Given the description of an element on the screen output the (x, y) to click on. 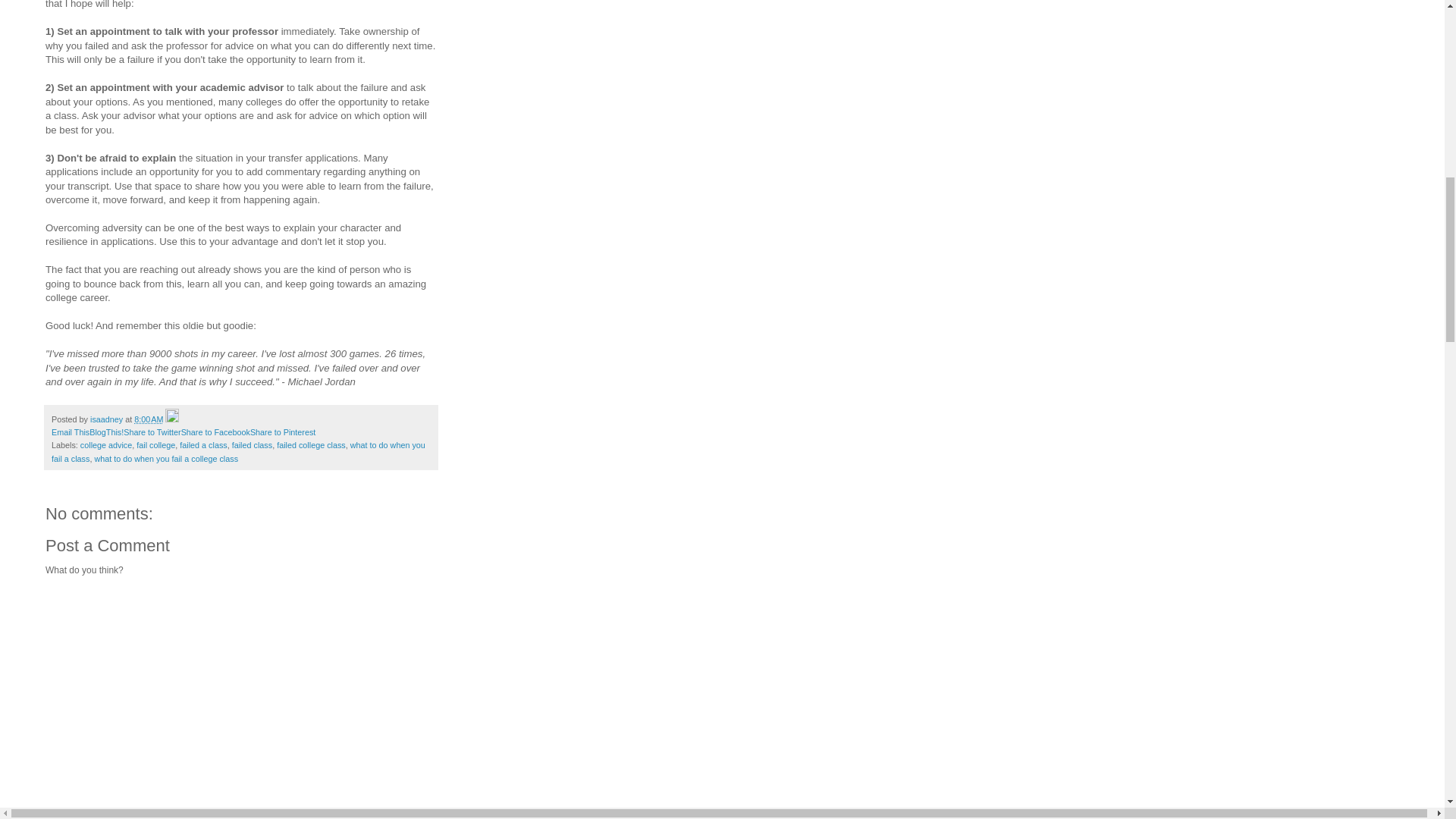
failed class (251, 444)
Share to Facebook (215, 431)
permanent link (148, 419)
isaadney (107, 419)
Share to Twitter (151, 431)
Share to Pinterest (282, 431)
Email This (69, 431)
Email This (69, 431)
Edit Post (172, 419)
Share to Twitter (151, 431)
BlogThis! (105, 431)
college advice (106, 444)
Share to Pinterest (282, 431)
failed college class (311, 444)
